Given the description of an element on the screen output the (x, y) to click on. 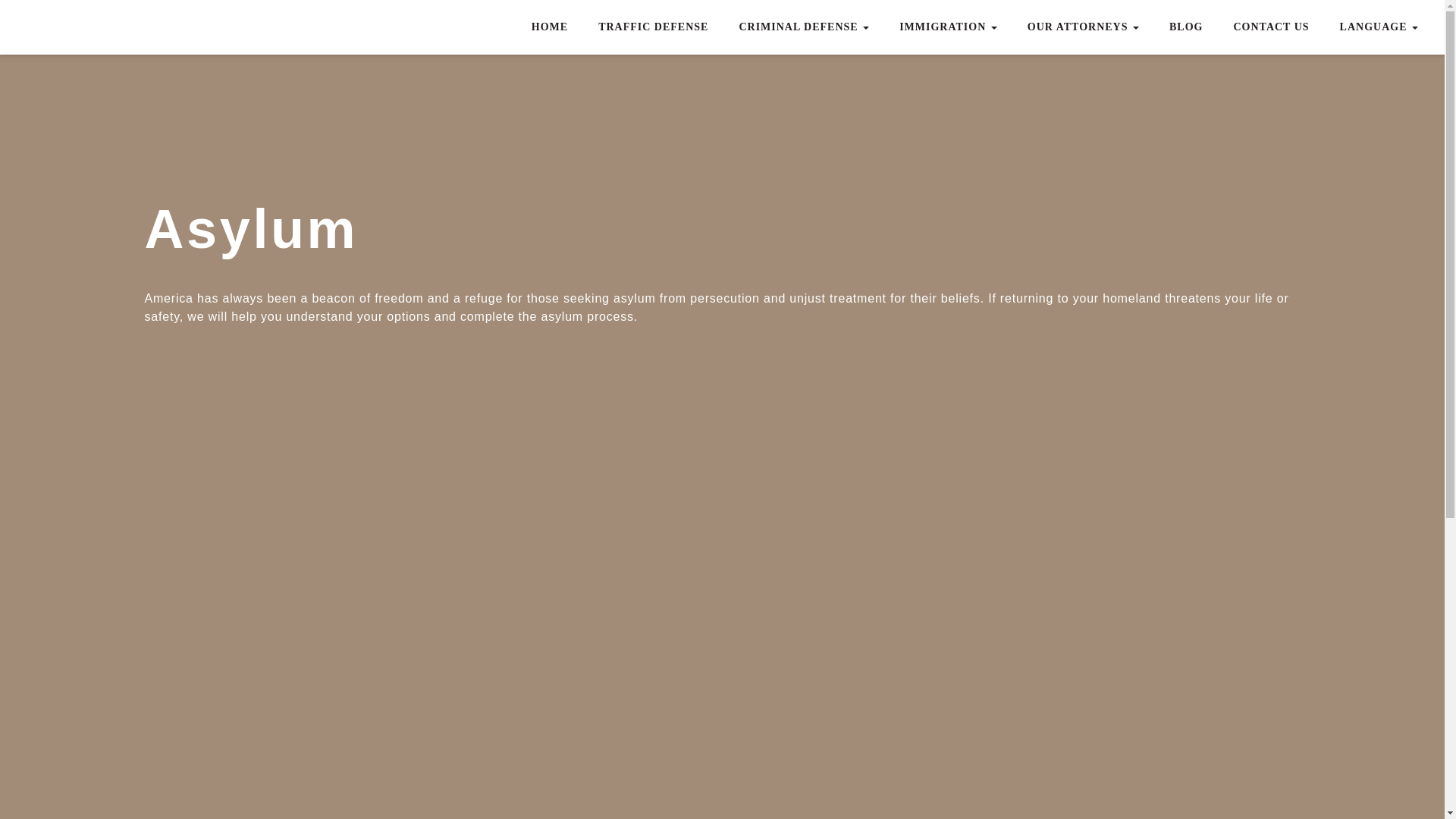
TRAFFIC DEFENSE (653, 27)
LANGUAGE (1378, 27)
BLOG (1185, 27)
Immigration (947, 27)
Language (1378, 27)
Our Attorneys (1082, 27)
HOME (549, 27)
Blog (1185, 27)
Contact Us (1270, 27)
Criminal Defense (803, 27)
Home (549, 27)
IMMIGRATION (947, 27)
OUR ATTORNEYS (1082, 27)
CRIMINAL DEFENSE (803, 27)
Traffic Defense (653, 27)
